Given the description of an element on the screen output the (x, y) to click on. 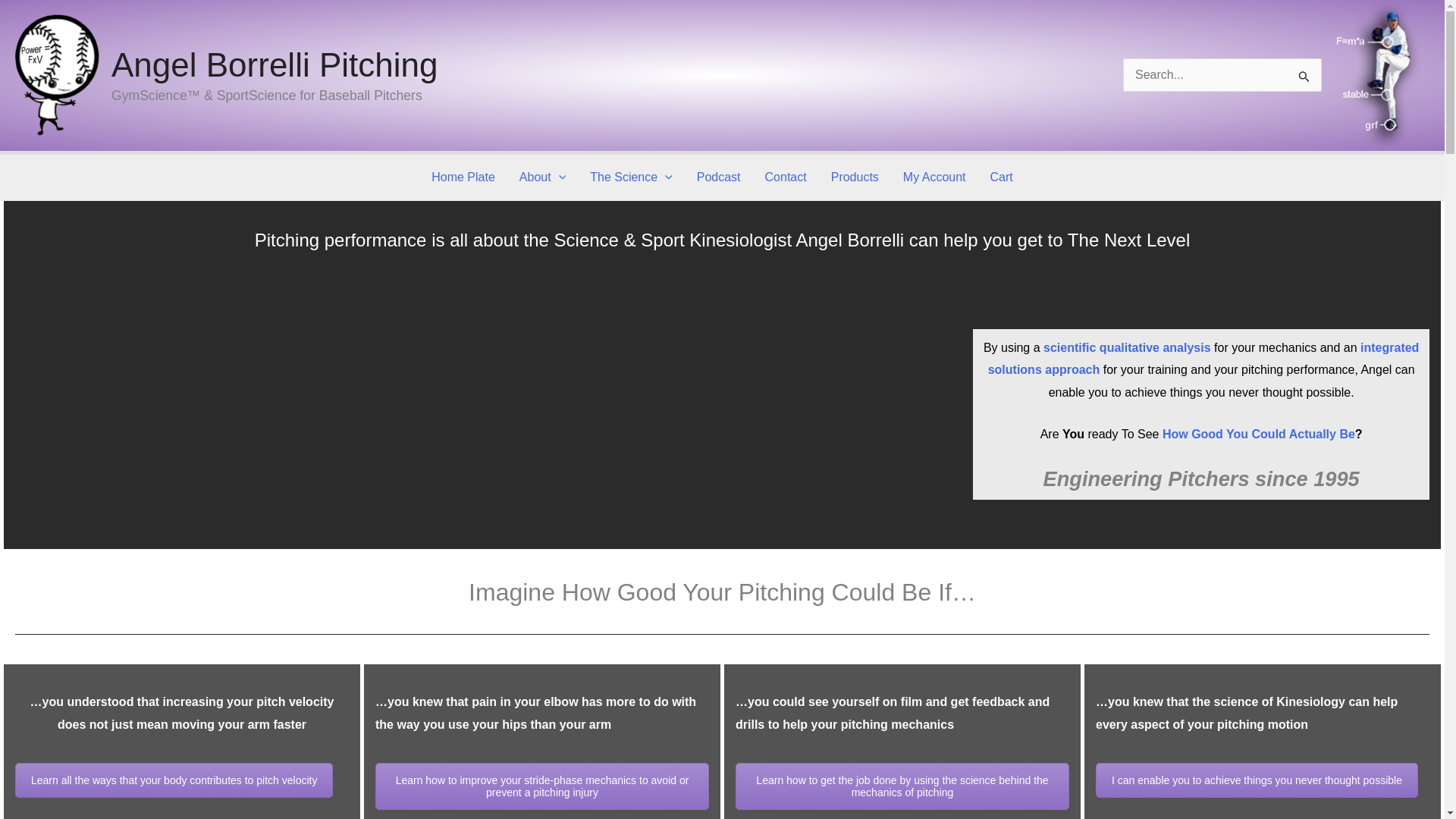
Podcast (718, 176)
Products (854, 176)
Home Plate (462, 176)
Contact (785, 176)
My Account (934, 176)
Cart (1001, 176)
Angel Borrelli Pitching (275, 64)
About (542, 176)
How It Works (173, 779)
The Science (631, 176)
